Given the description of an element on the screen output the (x, y) to click on. 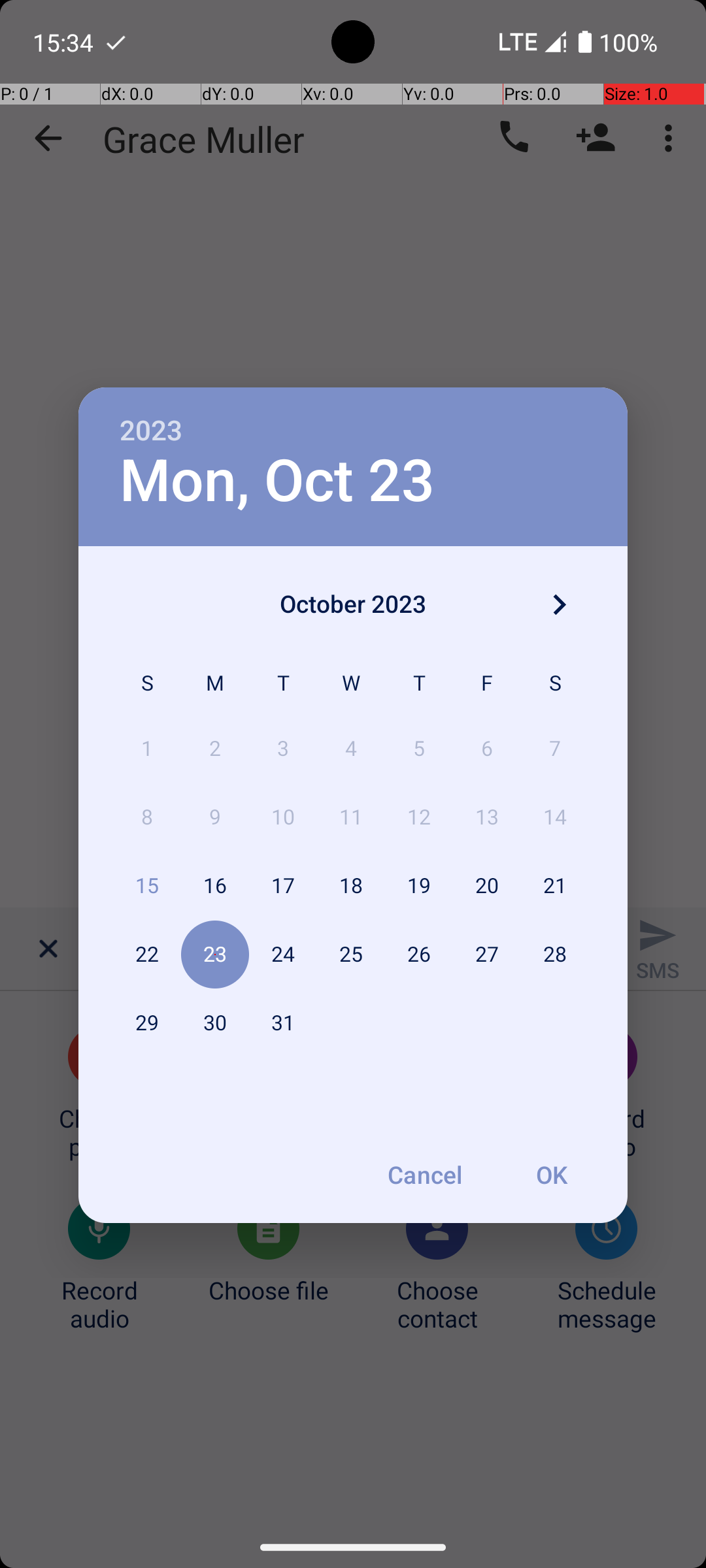
Mon, Oct 23 Element type: android.widget.TextView (276, 480)
